Given the description of an element on the screen output the (x, y) to click on. 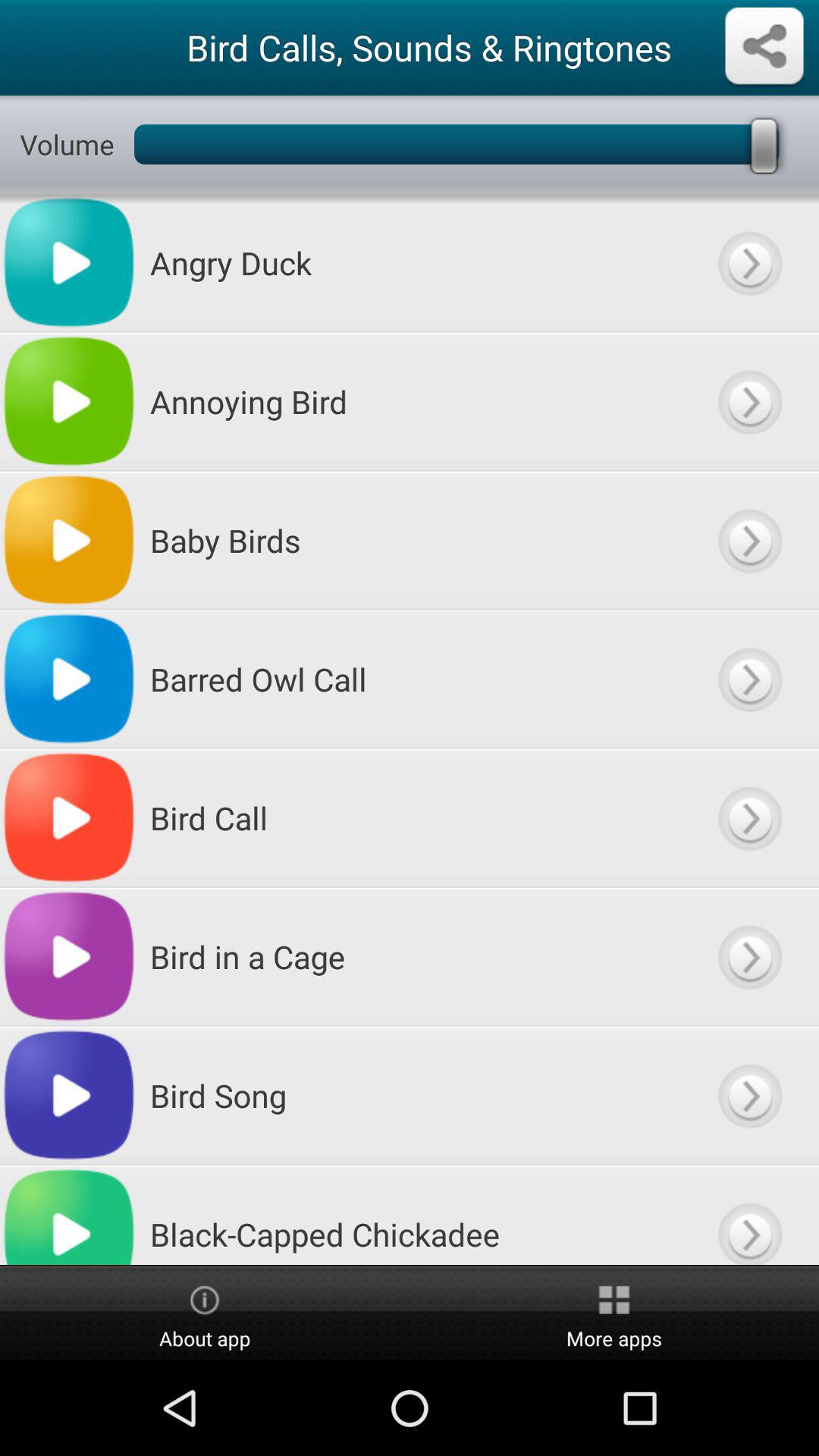
play this audio or video (749, 401)
